Given the description of an element on the screen output the (x, y) to click on. 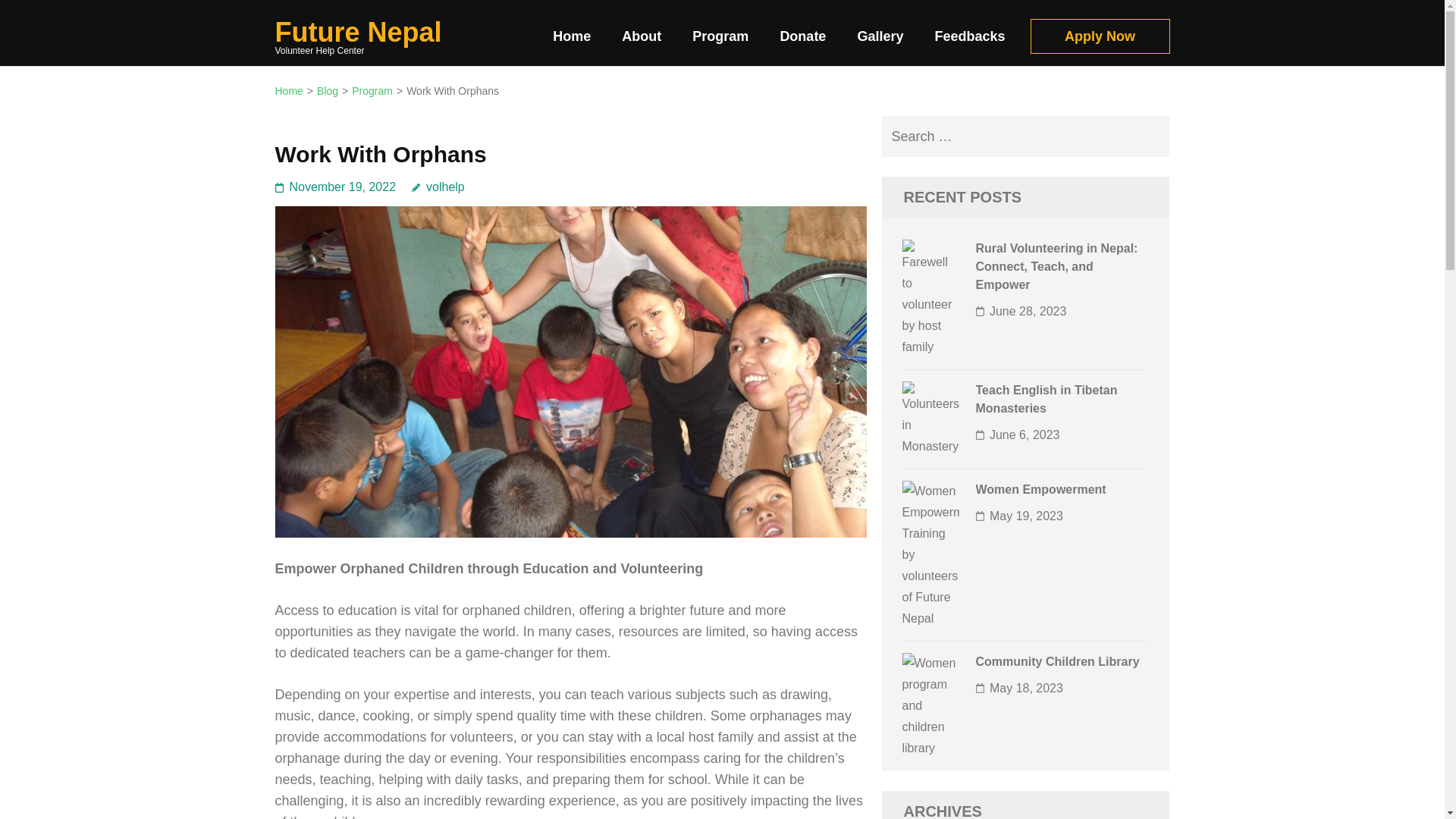
Blog (327, 91)
Search (1147, 136)
Search (1147, 136)
Feedbacks (969, 42)
Donate (801, 42)
Home (288, 91)
About (641, 42)
Program (372, 91)
Program (720, 42)
volhelp (438, 186)
November 19, 2022 (342, 186)
Apply Now (1099, 36)
Gallery (879, 42)
Future Nepal (358, 31)
Home (572, 42)
